Given the description of an element on the screen output the (x, y) to click on. 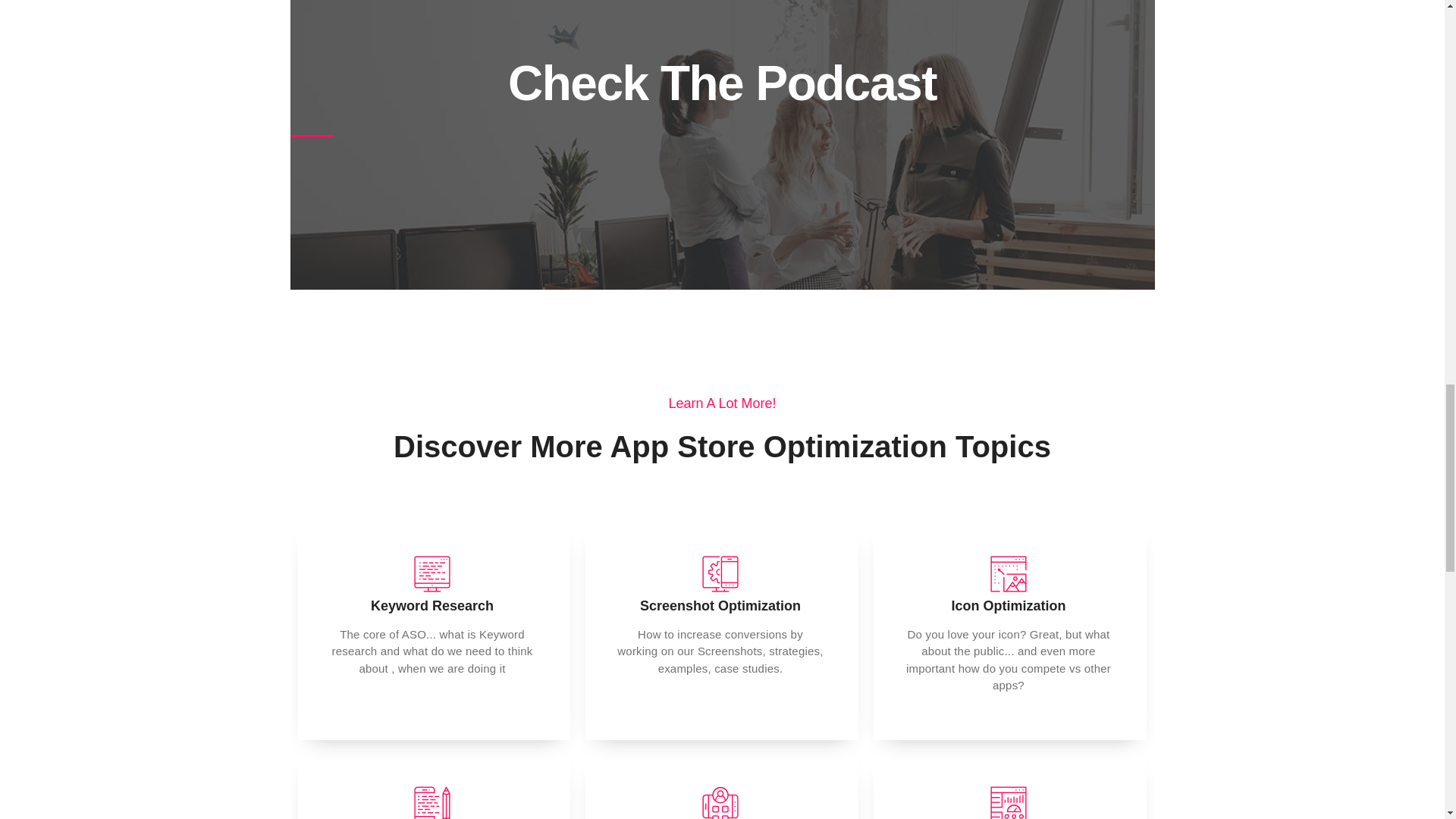
1.png (1008, 573)
Check The Podcast (722, 83)
14.png (432, 573)
Screenshot Optimization (720, 605)
Icon Optimization (1007, 605)
5.png (1008, 802)
4.png (720, 802)
12.png (432, 802)
Keyword Research (432, 605)
10.png (720, 573)
